Given the description of an element on the screen output the (x, y) to click on. 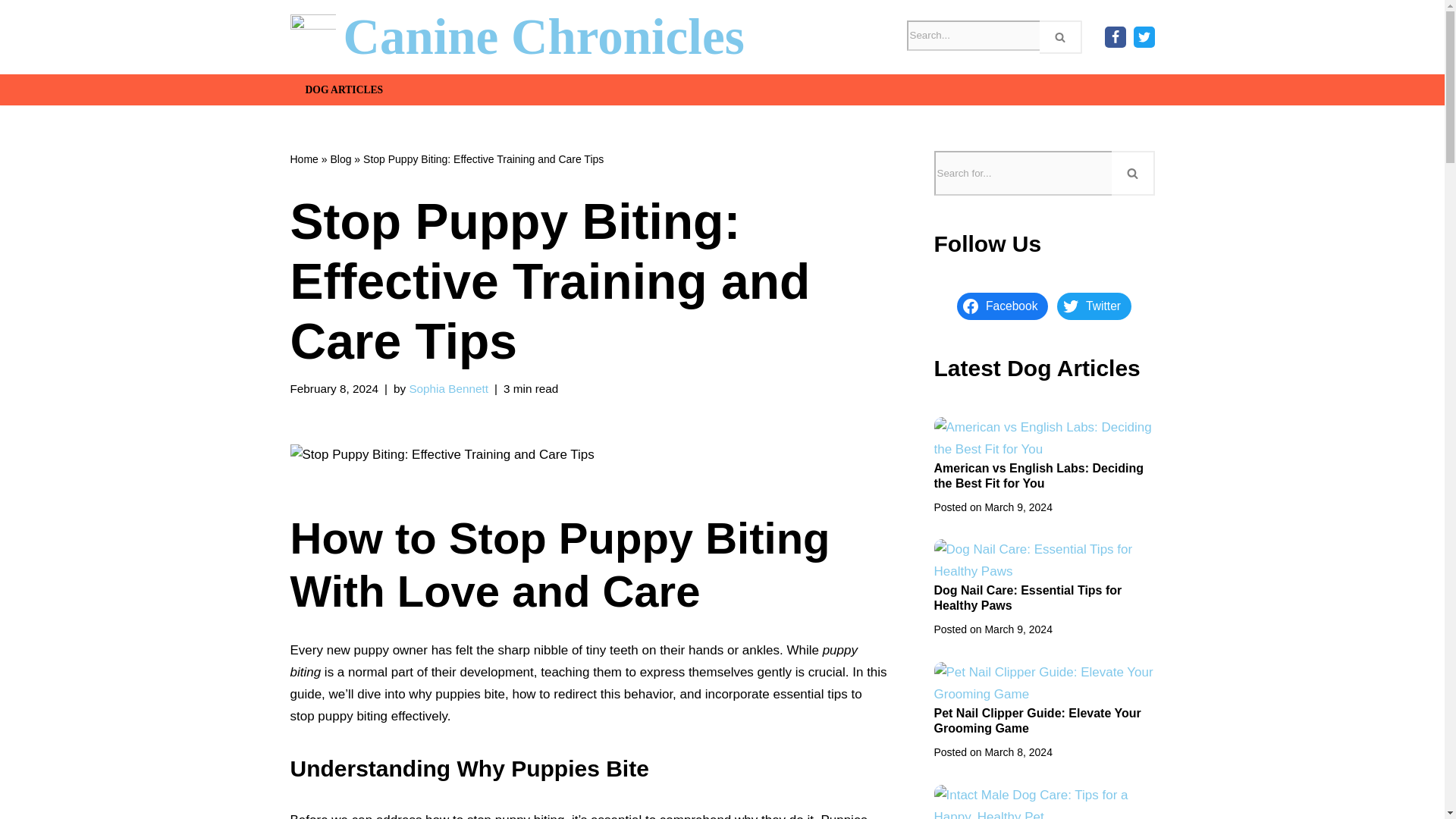
Canine Chronicles (516, 40)
DOG ARTICLES (343, 89)
Posts by Sophia Bennett (448, 388)
X (1143, 36)
Facebook (1114, 36)
Skip to content (11, 31)
